Given the description of an element on the screen output the (x, y) to click on. 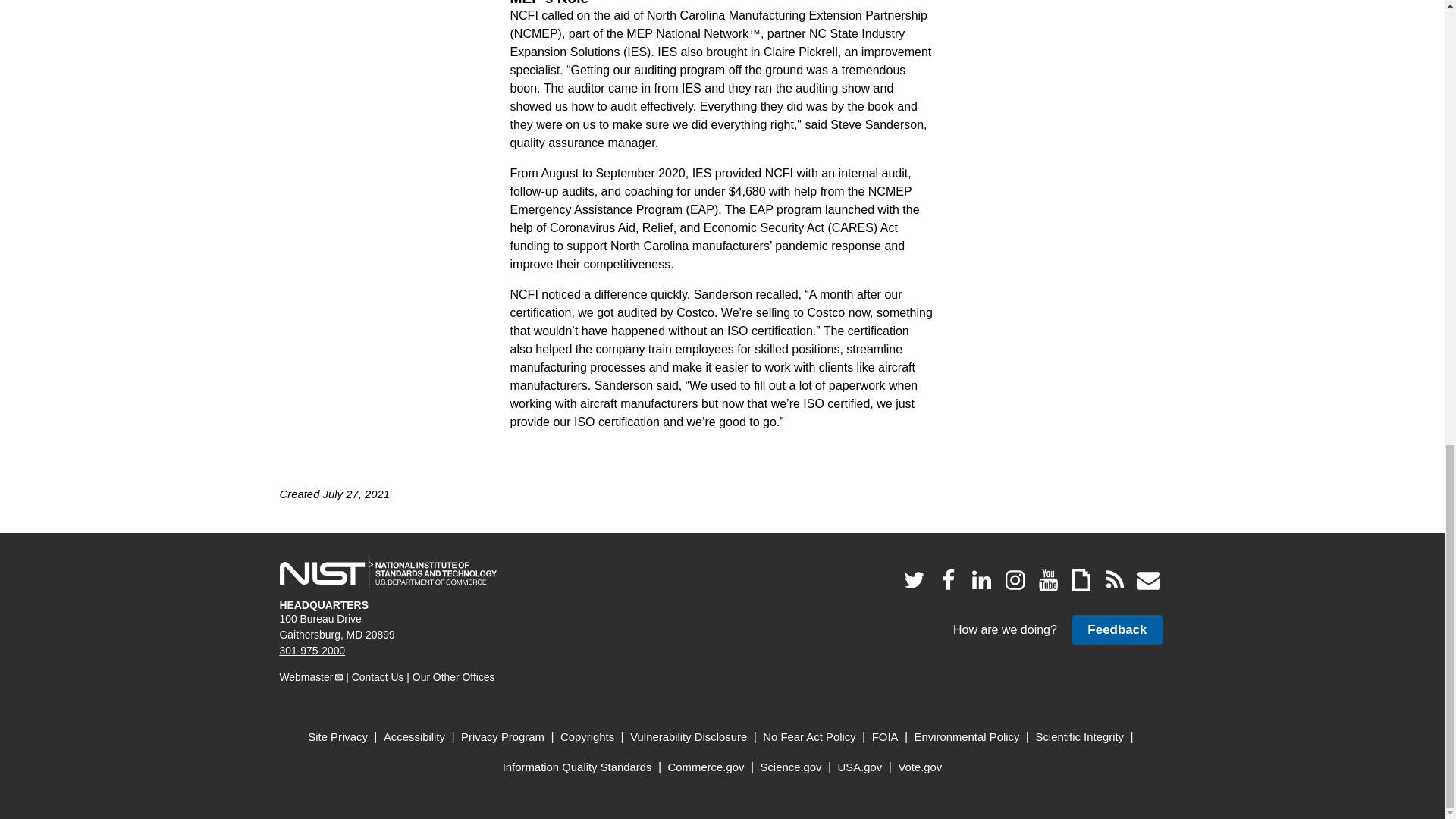
National Institute of Standards and Technology (387, 572)
Provide feedback (1116, 629)
